Given the description of an element on the screen output the (x, y) to click on. 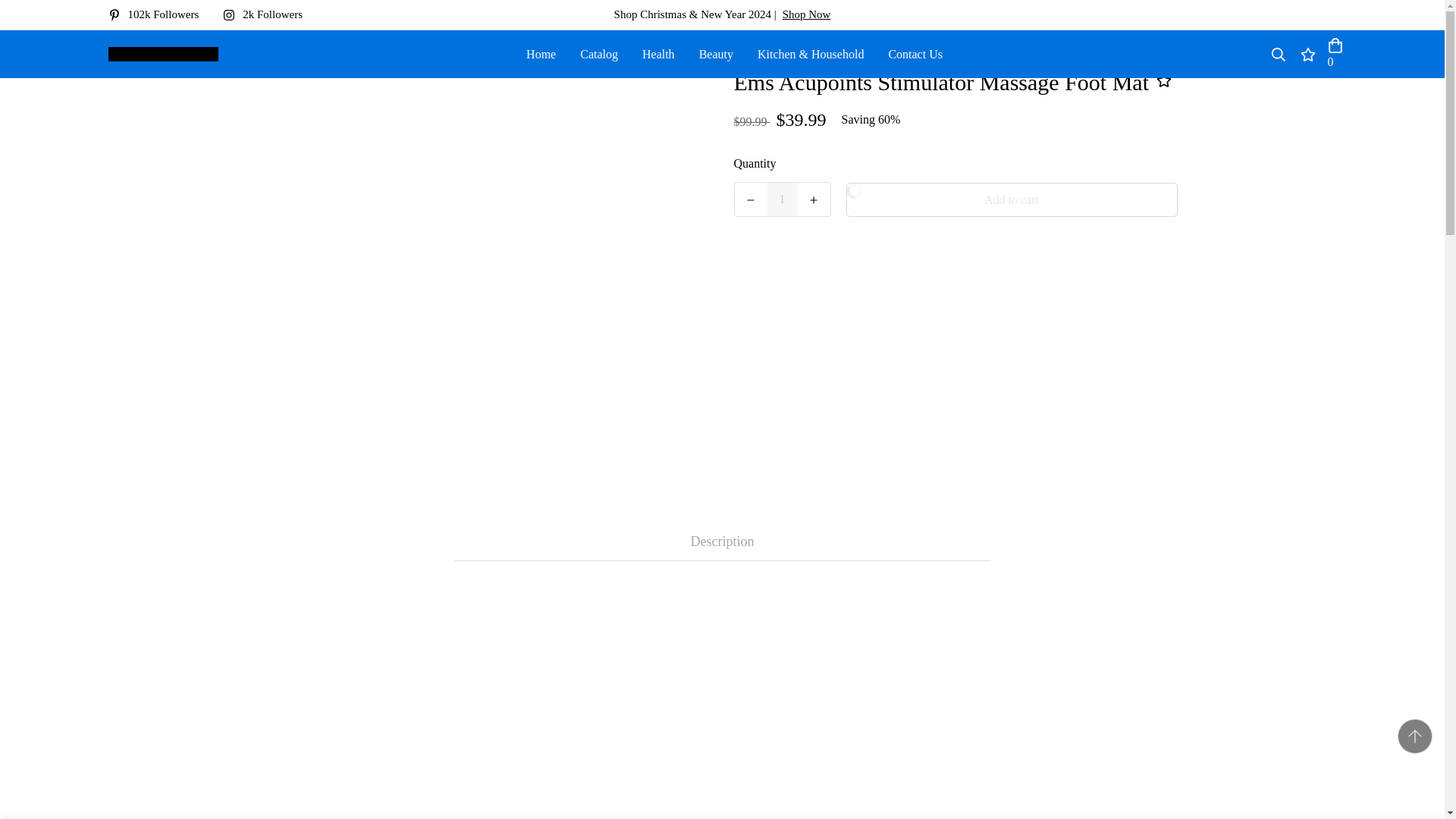
Contact Us (915, 53)
102k Followers (158, 14)
1 (782, 199)
Shop Now (807, 14)
Beauty (716, 53)
Catalog (598, 53)
Home (540, 53)
2k Followers (268, 14)
Health (658, 53)
